Given the description of an element on the screen output the (x, y) to click on. 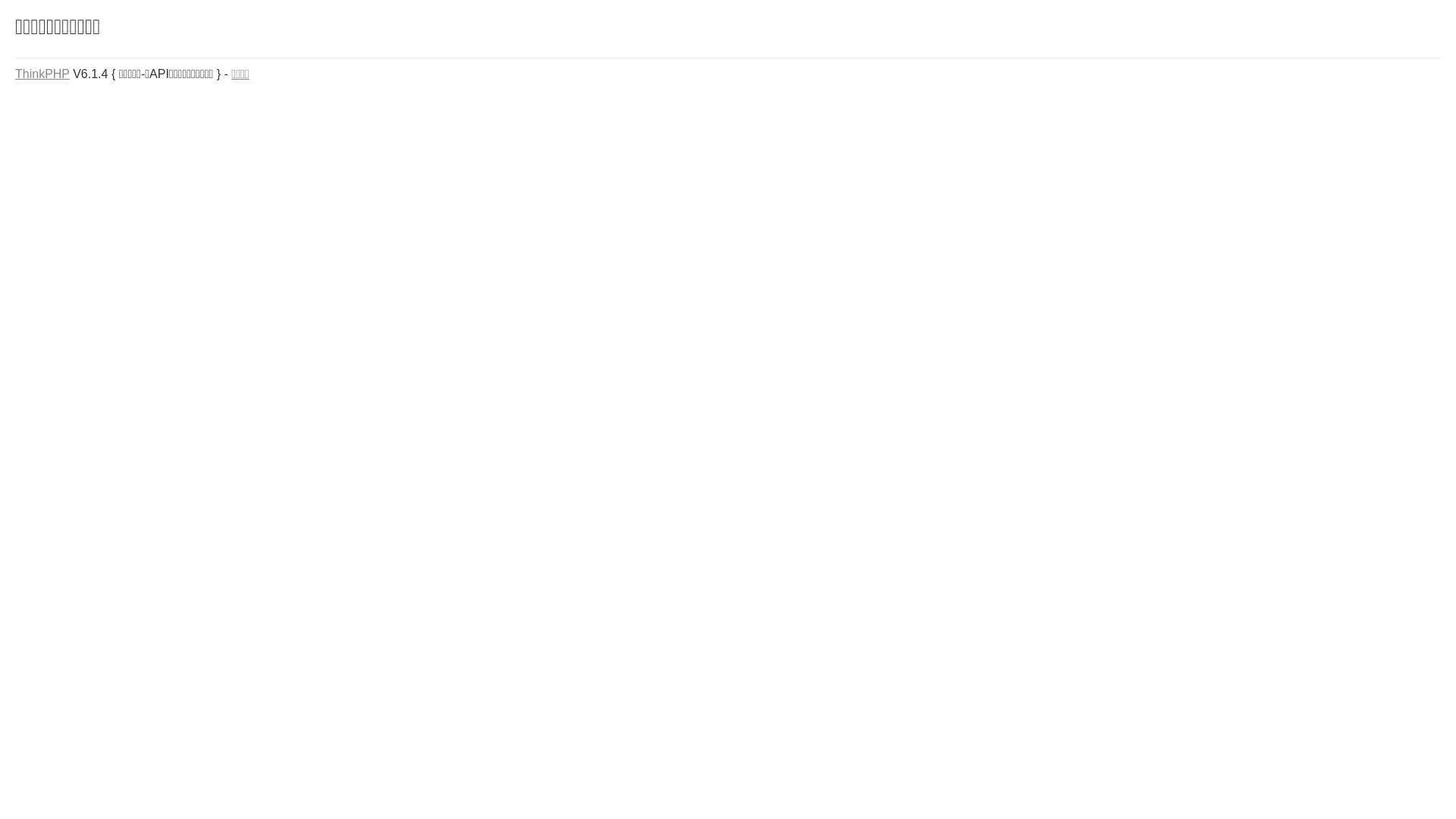
ThinkPHP Element type: text (42, 73)
